Given the description of an element on the screen output the (x, y) to click on. 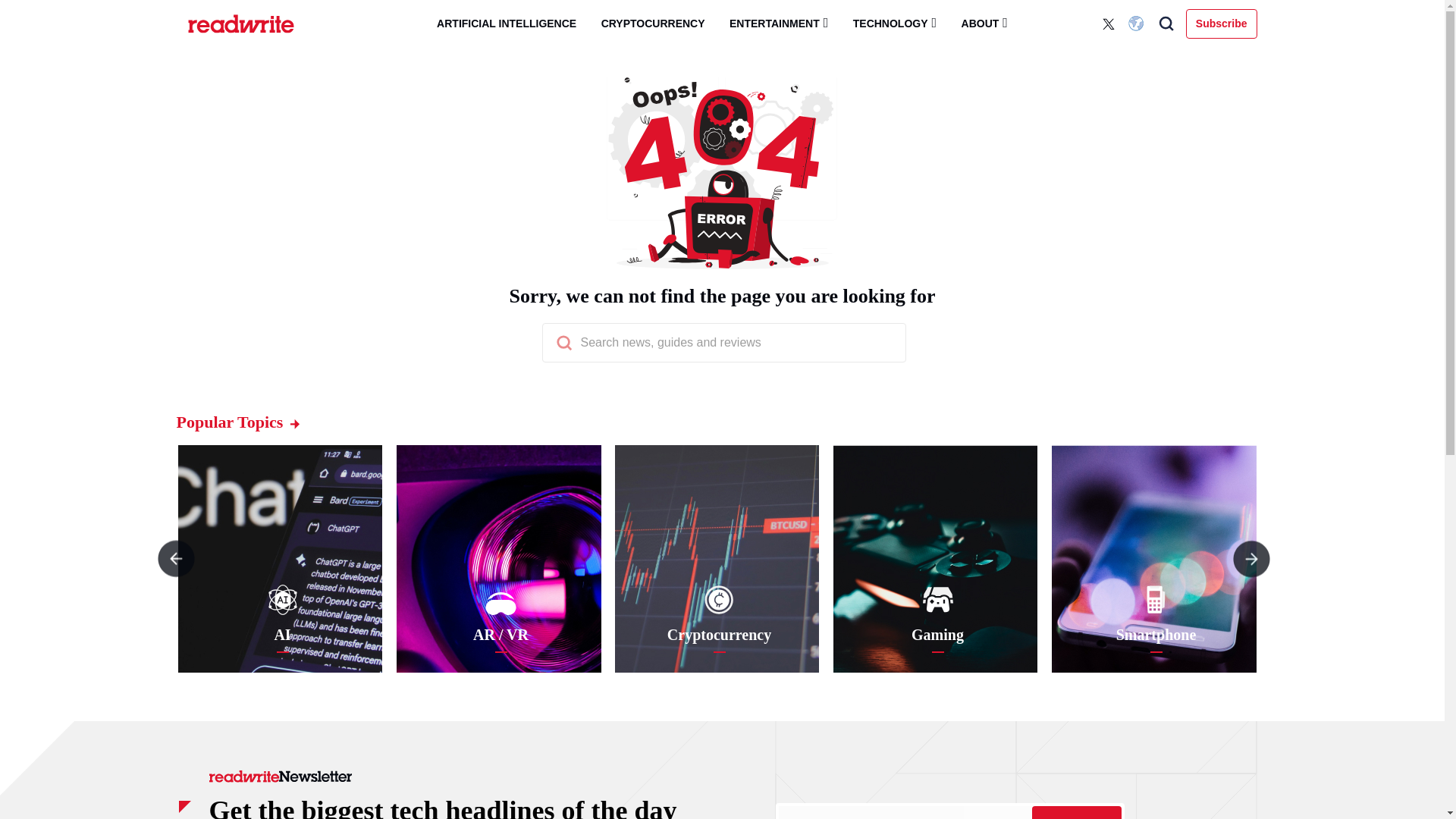
ABOUT (983, 23)
ENTERTAINMENT (778, 23)
Subscribe (1221, 23)
TECHNOLOGY (895, 23)
English (1137, 23)
ARTIFICIAL INTELLIGENCE (506, 23)
Subscribe (1075, 812)
CRYPTOCURRENCY (653, 23)
